Given the description of an element on the screen output the (x, y) to click on. 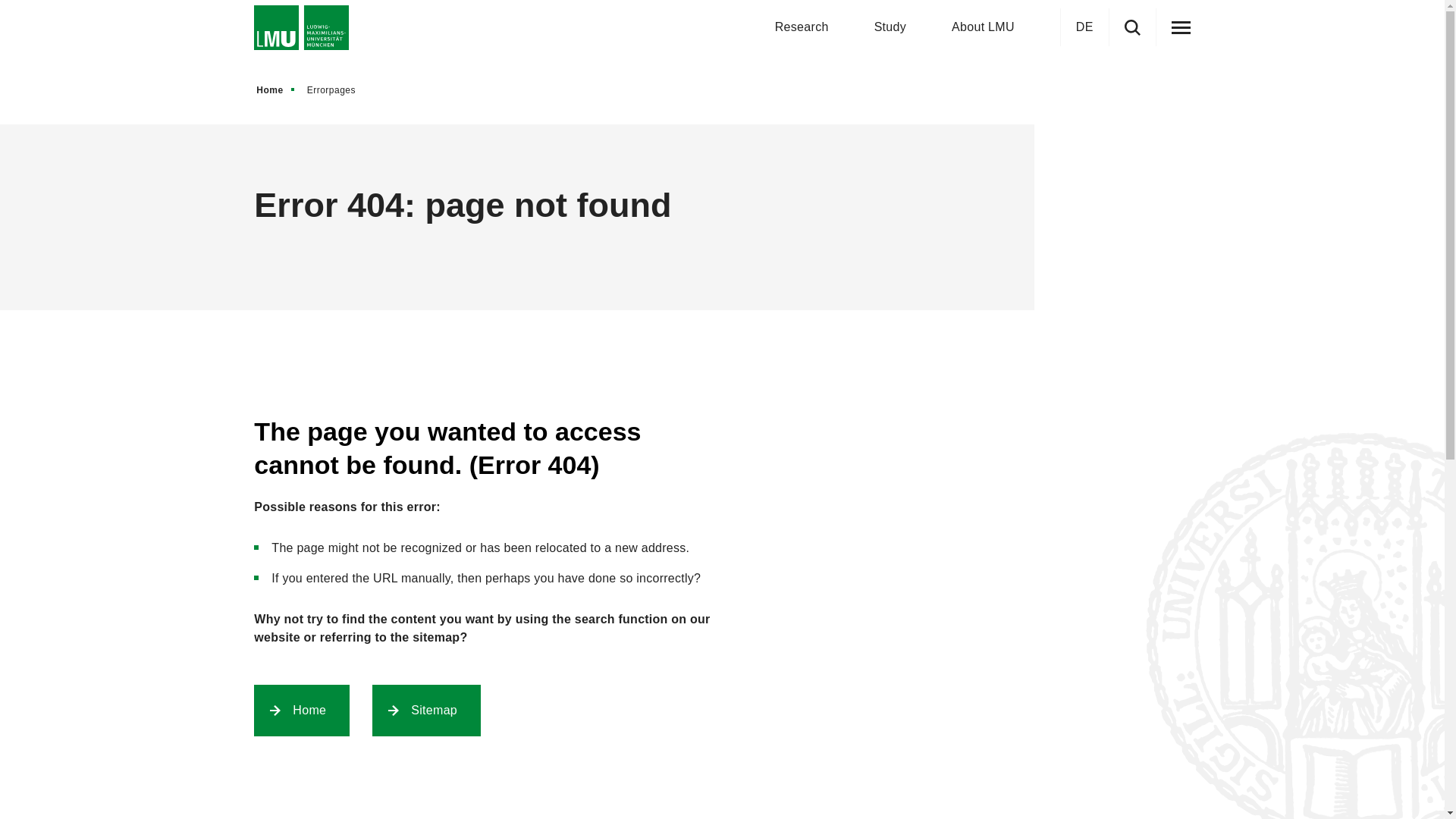
Home You are here:Errorpages (312, 90)
Home (275, 90)
You are here:Errorpages (336, 90)
Home (276, 90)
Study (890, 26)
Sitemap (426, 710)
Home (301, 710)
About LMU (983, 26)
Home (276, 90)
DE (1084, 26)
Home You are here:Errorpages (721, 89)
You are here:Errorpages (335, 90)
Home You are here:Errorpages (721, 89)
Home (276, 90)
Research (801, 26)
